Given the description of an element on the screen output the (x, y) to click on. 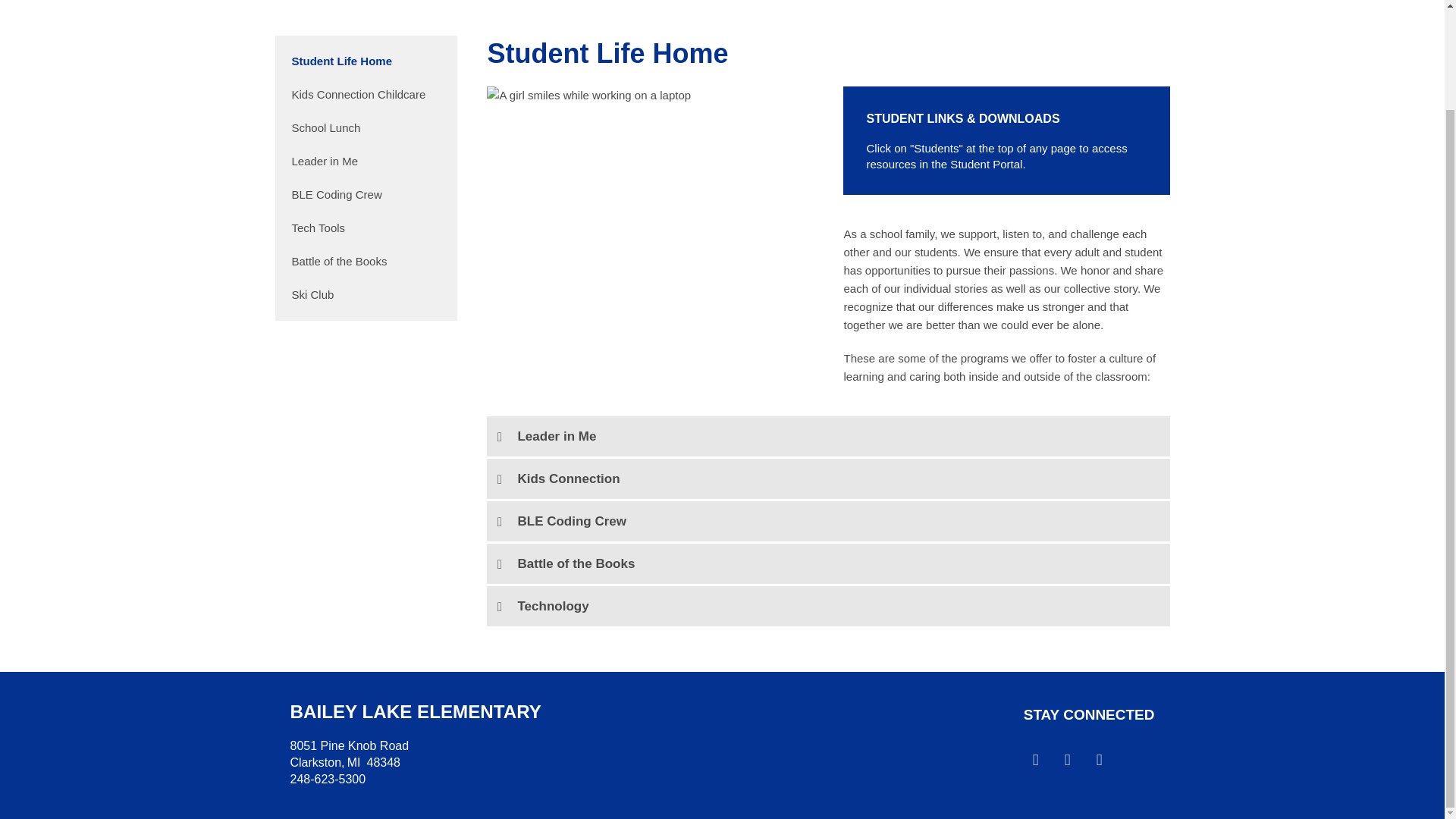
A girl smiles while working on a laptop (588, 95)
